Given the description of an element on the screen output the (x, y) to click on. 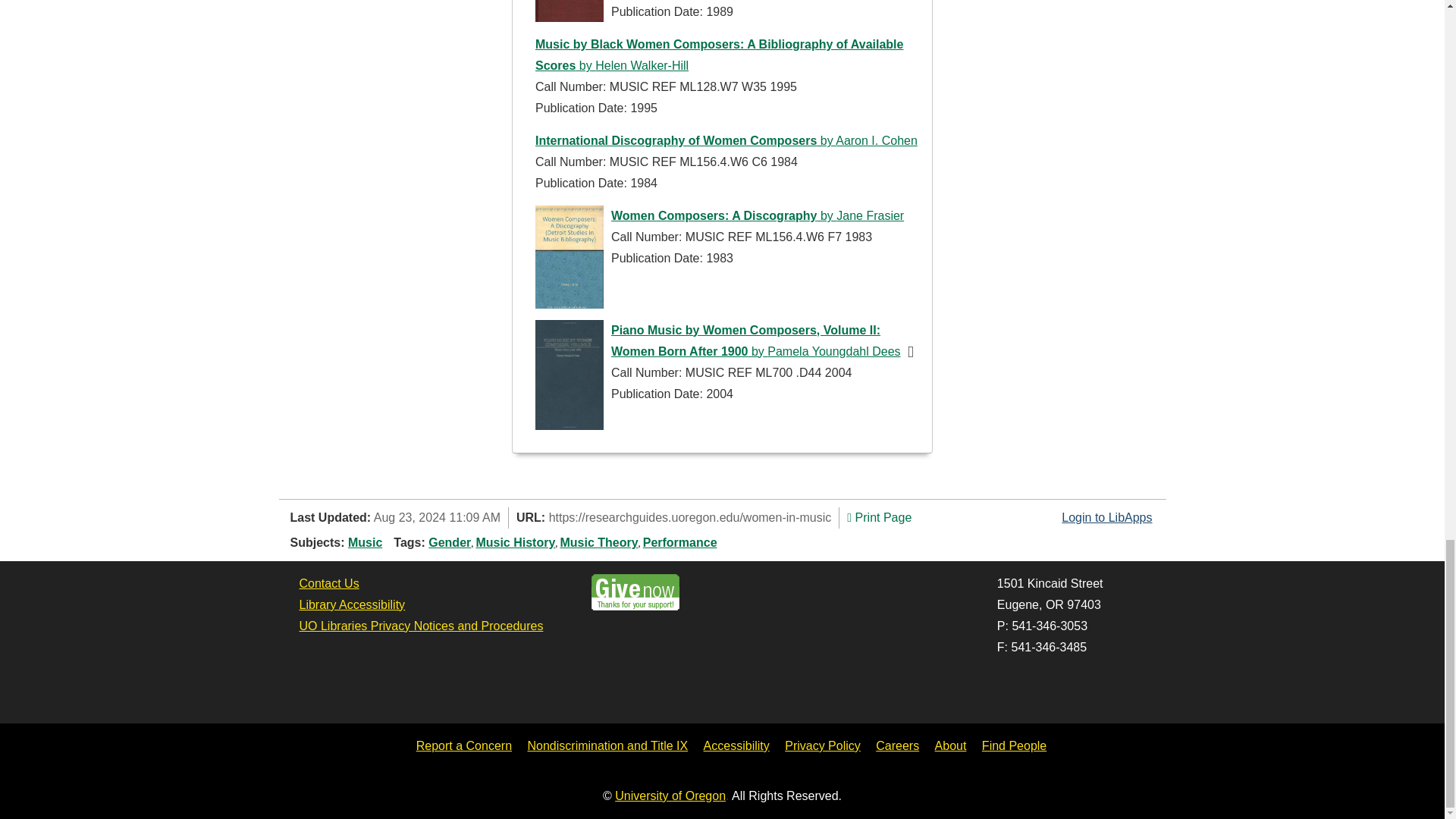
Music (364, 542)
Women Composers: A Discography by Jane Frasier (757, 215)
Print Page (879, 517)
Login to LibApps (1106, 517)
